Given the description of an element on the screen output the (x, y) to click on. 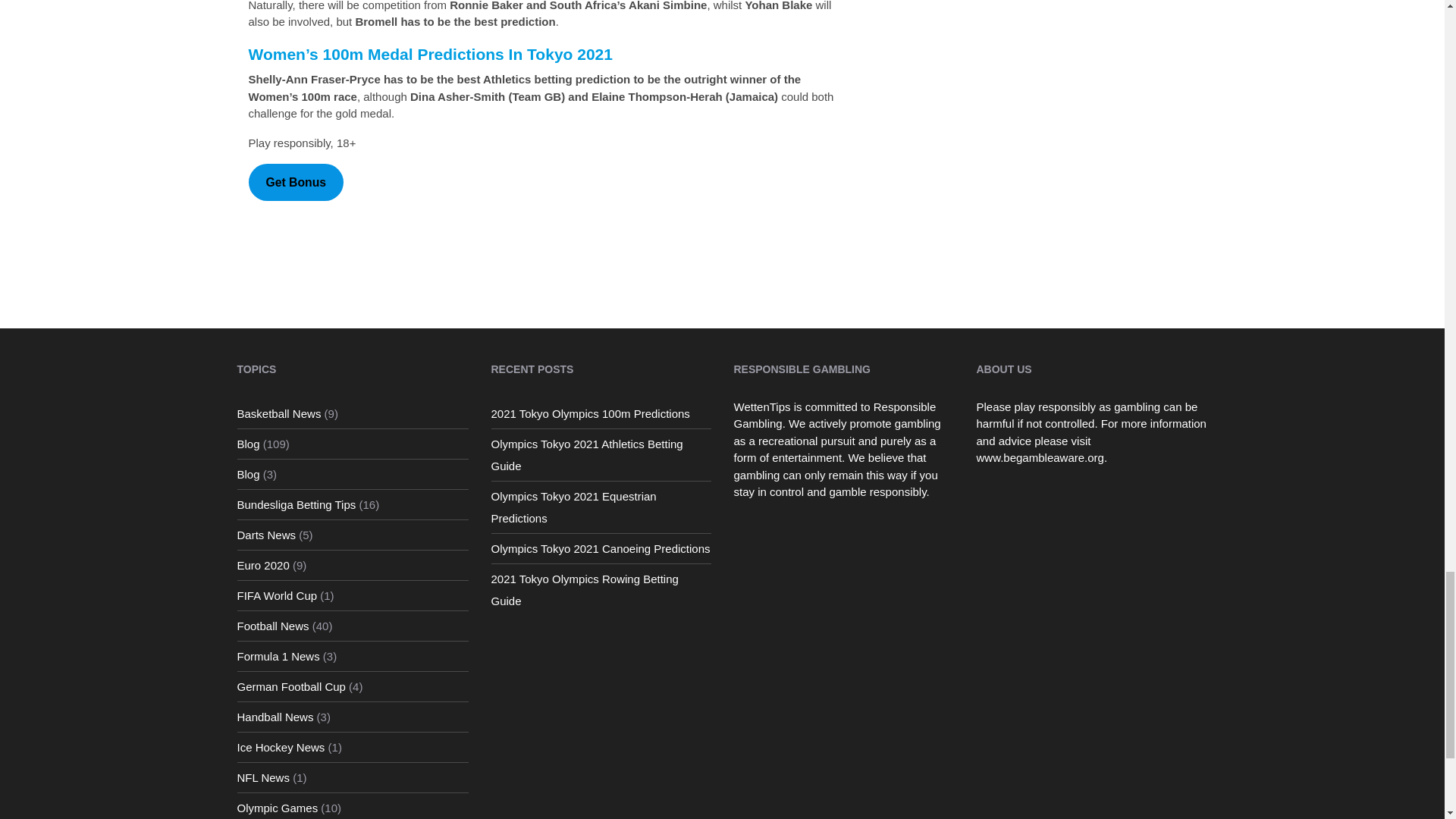
Get Bonus (295, 181)
